Given the description of an element on the screen output the (x, y) to click on. 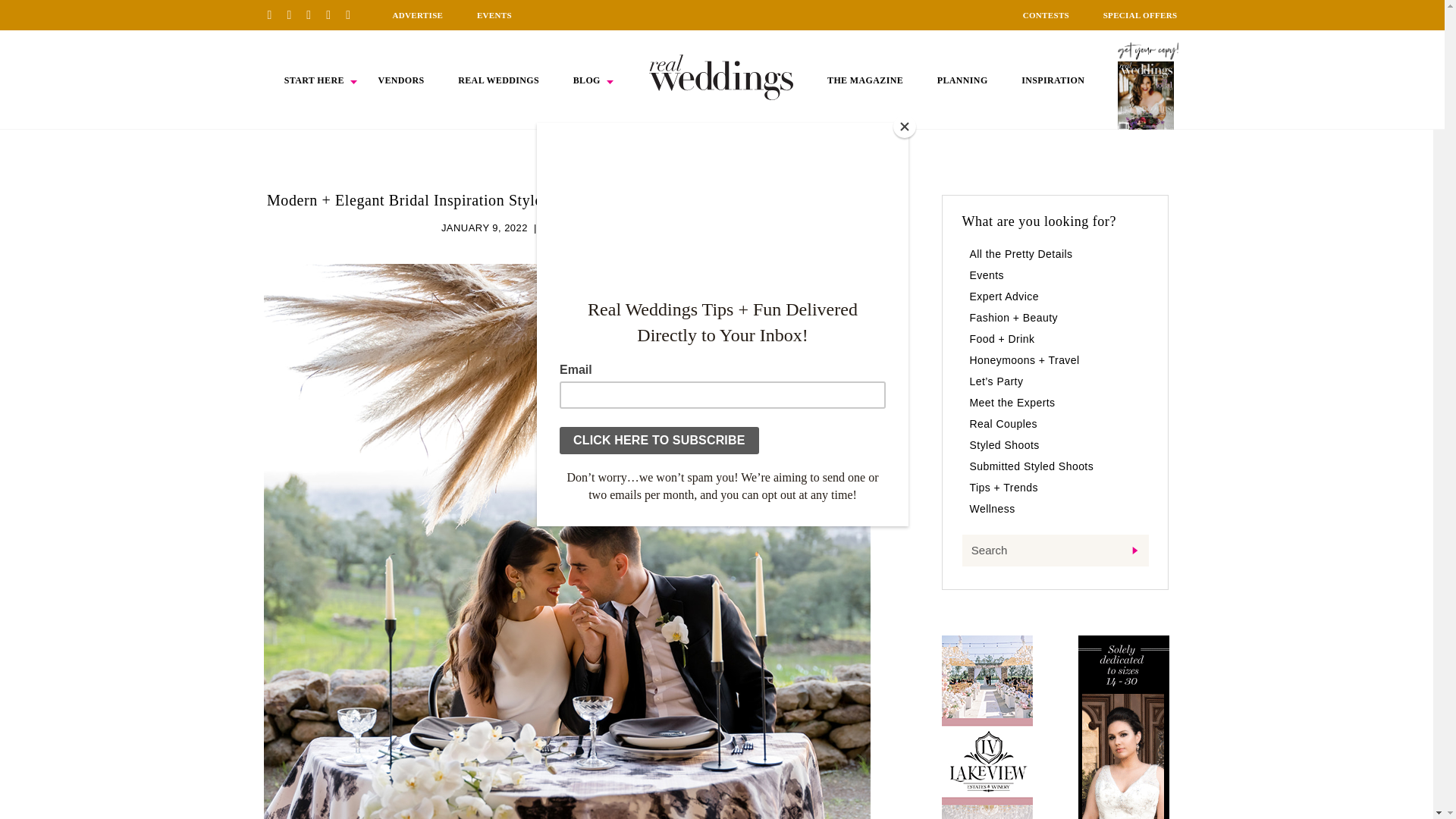
HOME (721, 76)
START HERE (313, 80)
VENDORS (400, 80)
CONTESTS (1045, 14)
SPECIAL OFFERS (1140, 14)
BLOG (586, 80)
INSPIRATION (1053, 80)
REAL WEDDINGS (498, 80)
Twitter (334, 14)
Instagram (313, 14)
SUBMITTED STYLED SHOOTS (618, 227)
Facebook (294, 14)
PLANNING (962, 80)
YouTube (353, 14)
Search (1054, 550)
